Given the description of an element on the screen output the (x, y) to click on. 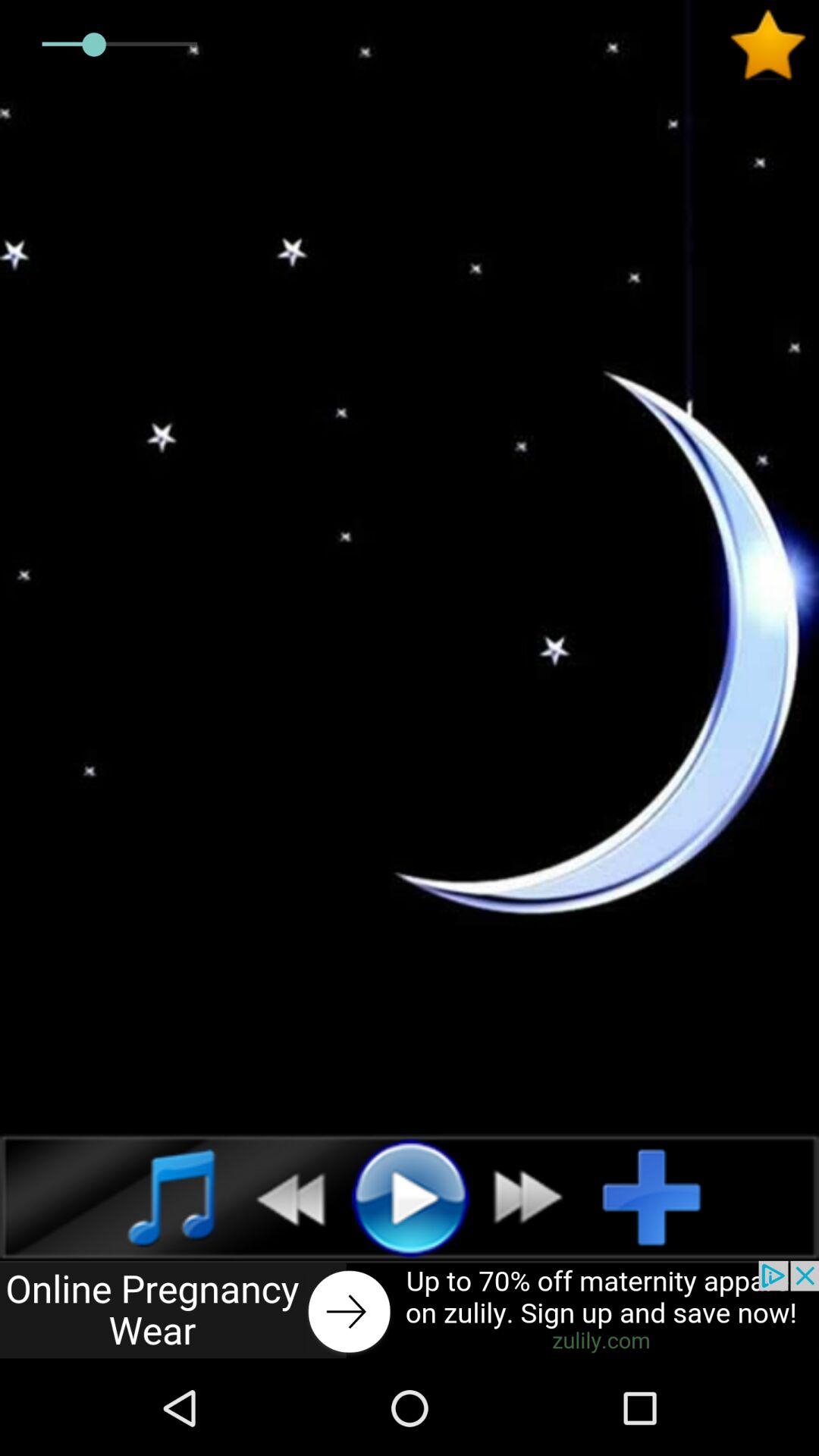
add selection (664, 1196)
